Given the description of an element on the screen output the (x, y) to click on. 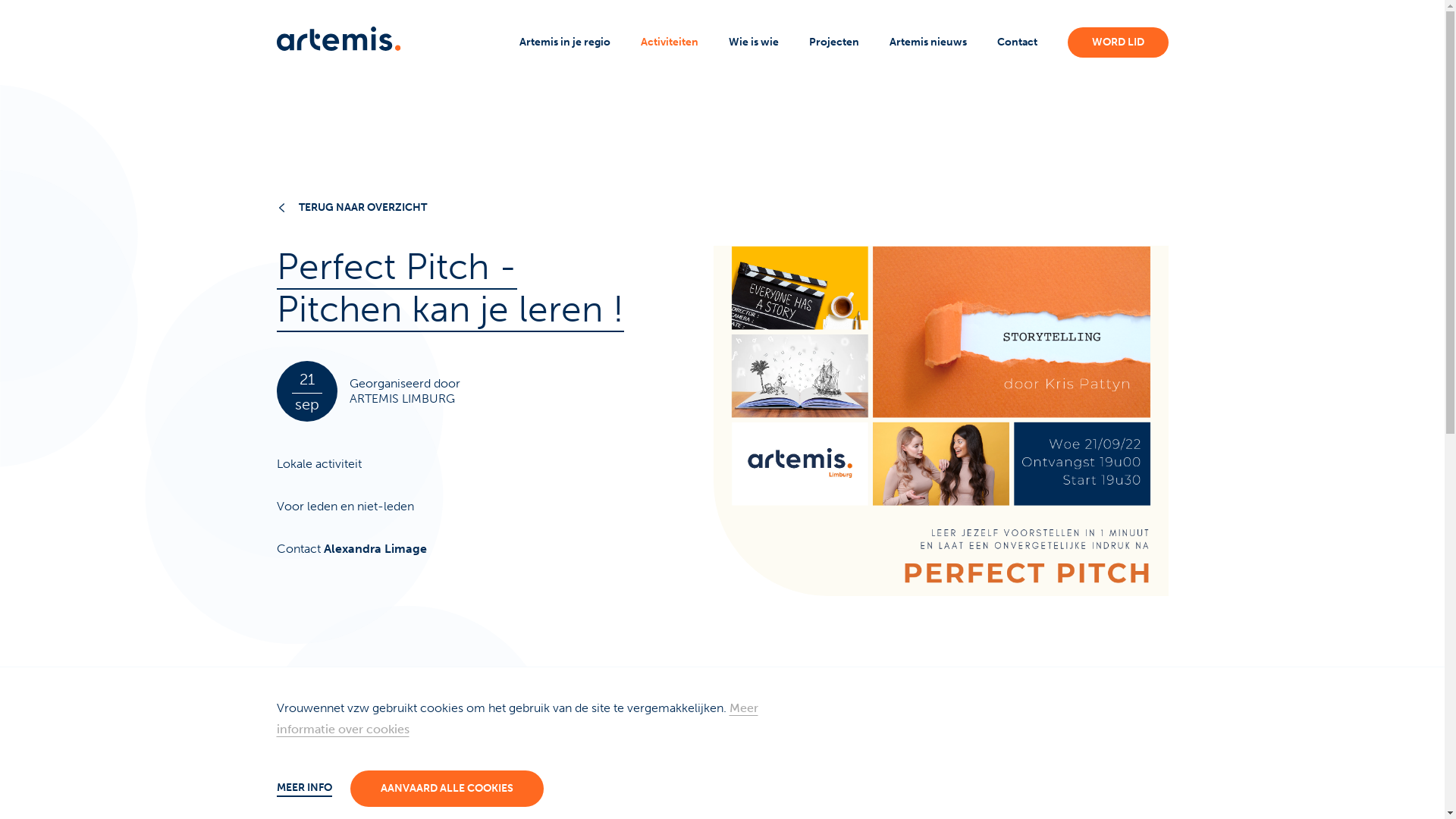
Artemis nieuws Element type: text (927, 42)
MEER INFO Element type: text (303, 788)
Activiteiten Element type: text (668, 42)
Alexandra Limage Element type: text (374, 548)
Wie is wie Element type: text (753, 42)
Projecten Element type: text (833, 42)
WORD LID Element type: text (1117, 42)
Contact Element type: text (1016, 42)
Artemis in je regio Element type: text (563, 42)
AANVAARD ALLE COOKIES Element type: text (446, 788)
TERUG NAAR OVERZICHT Element type: text (721, 207)
Meer informatie over cookies Element type: text (516, 718)
